Given the description of an element on the screen output the (x, y) to click on. 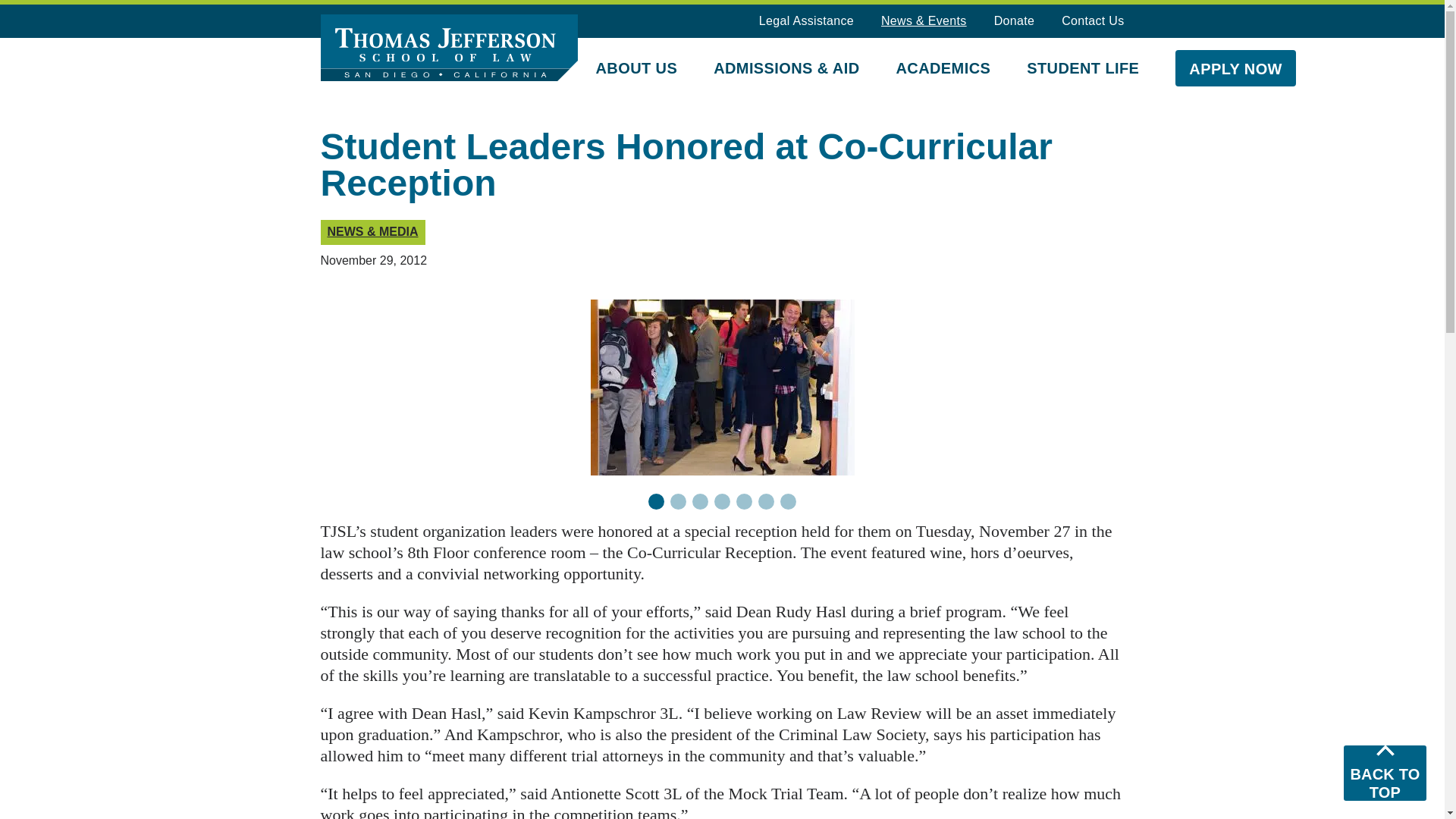
Legal Assistance (805, 20)
ABOUT US (636, 67)
Donate (1014, 20)
Contact Us (1092, 20)
